Given the description of an element on the screen output the (x, y) to click on. 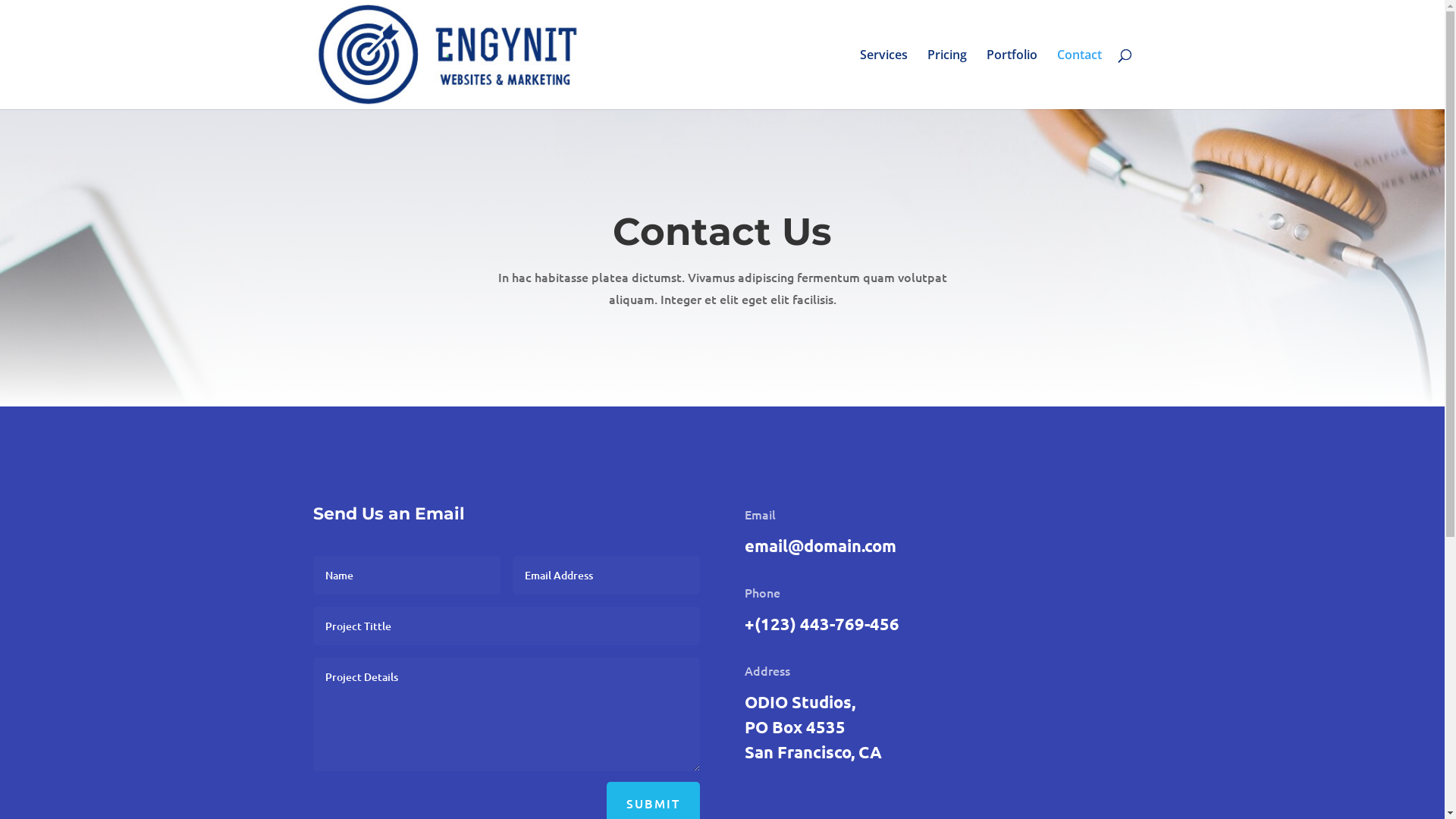
Services Element type: text (883, 79)
Portfolio Element type: text (1010, 79)
Pricing Element type: text (946, 79)
Contact Element type: text (1079, 79)
